Given the description of an element on the screen output the (x, y) to click on. 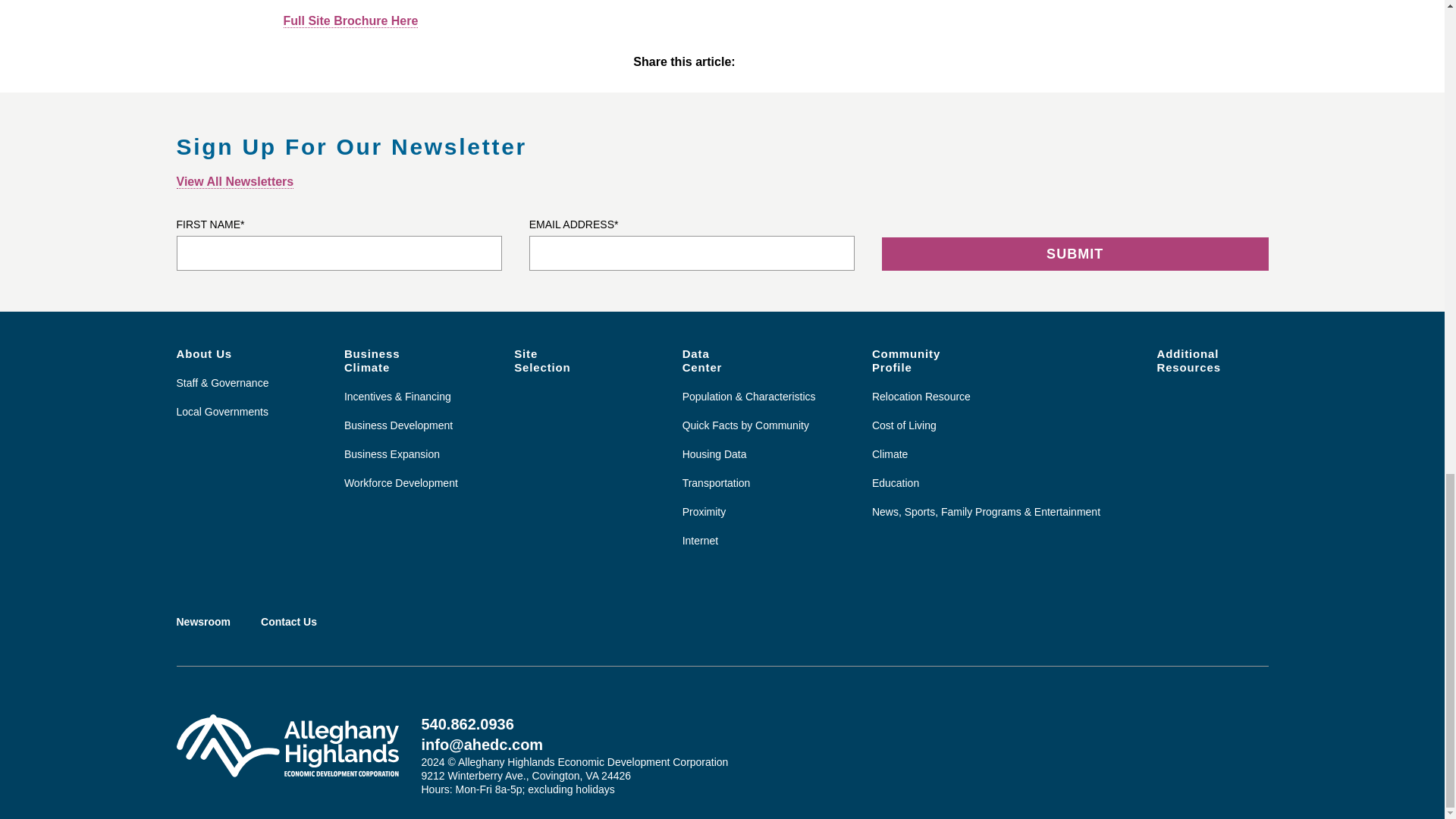
View All Newsletters (235, 182)
Full Site Brochure Here (351, 20)
Submit (1075, 254)
